Given the description of an element on the screen output the (x, y) to click on. 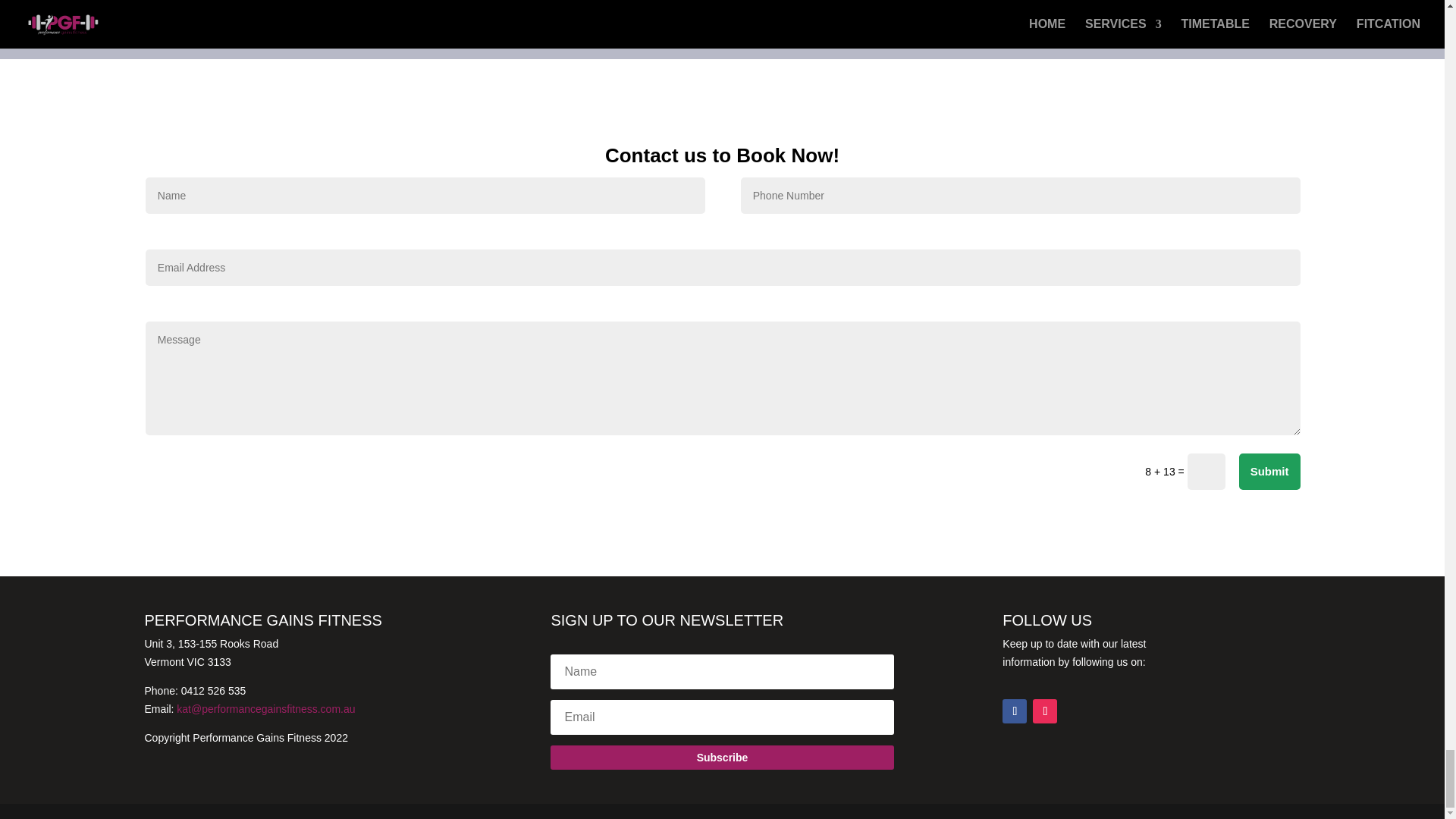
Subscribe (721, 757)
Only numbers allowed. (1020, 195)
Follow on Facebook (1014, 711)
Follow on Instagram (1044, 711)
Submit (1269, 471)
